Given the description of an element on the screen output the (x, y) to click on. 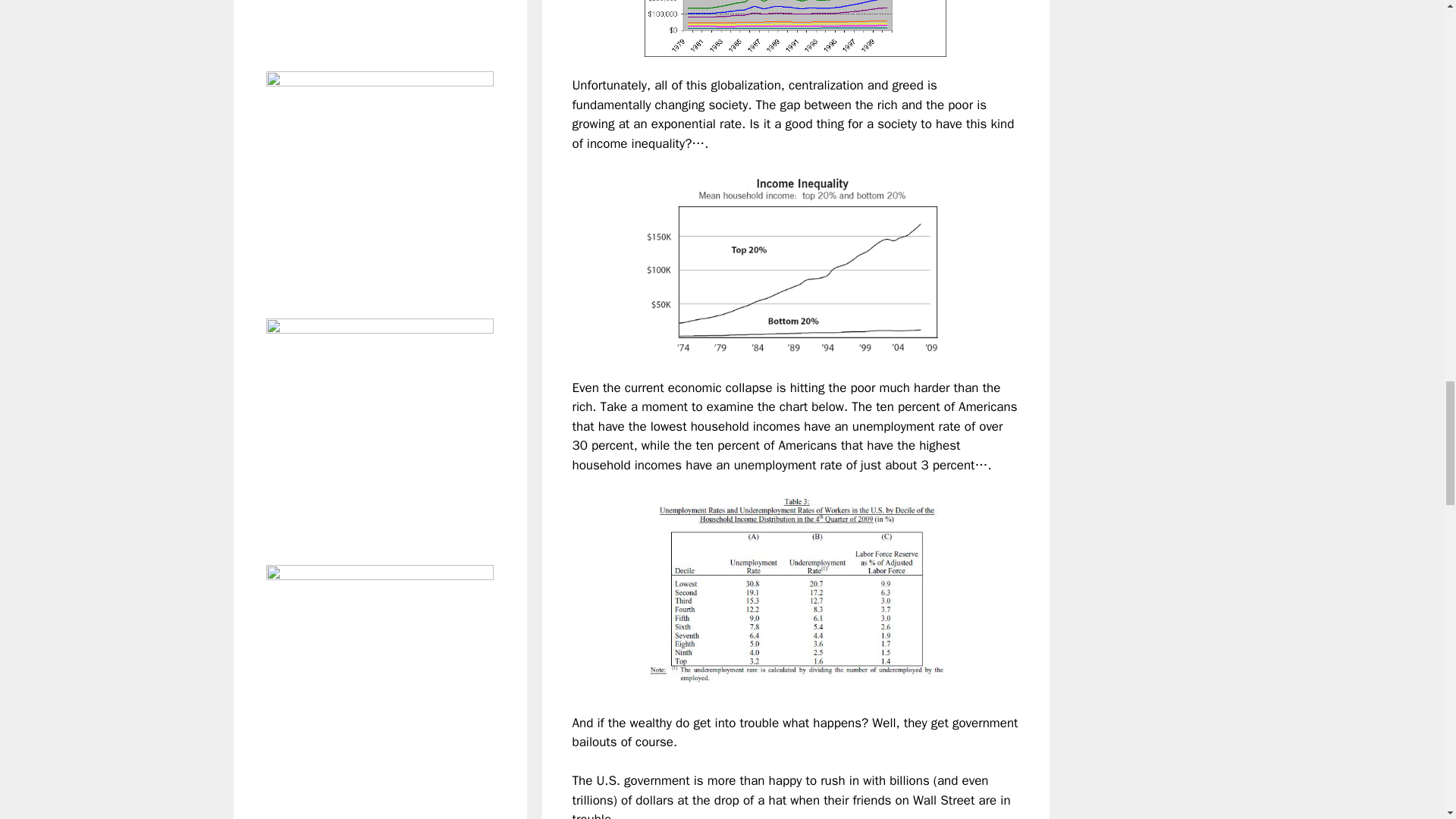
Average After Tax Income (795, 28)
Income Inequality (795, 265)
Unemployment Rates By Income Level (794, 593)
